Given the description of an element on the screen output the (x, y) to click on. 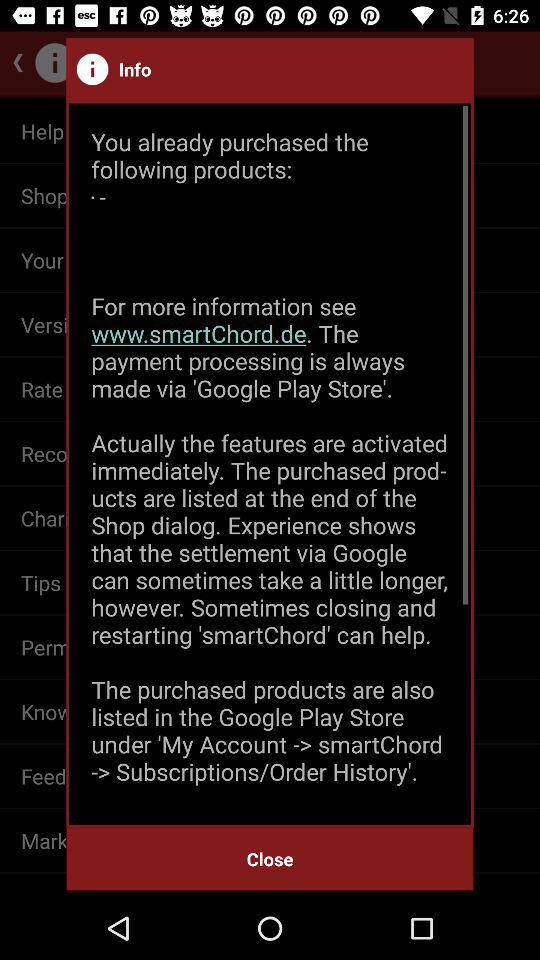
open you already purchased item (269, 464)
